Given the description of an element on the screen output the (x, y) to click on. 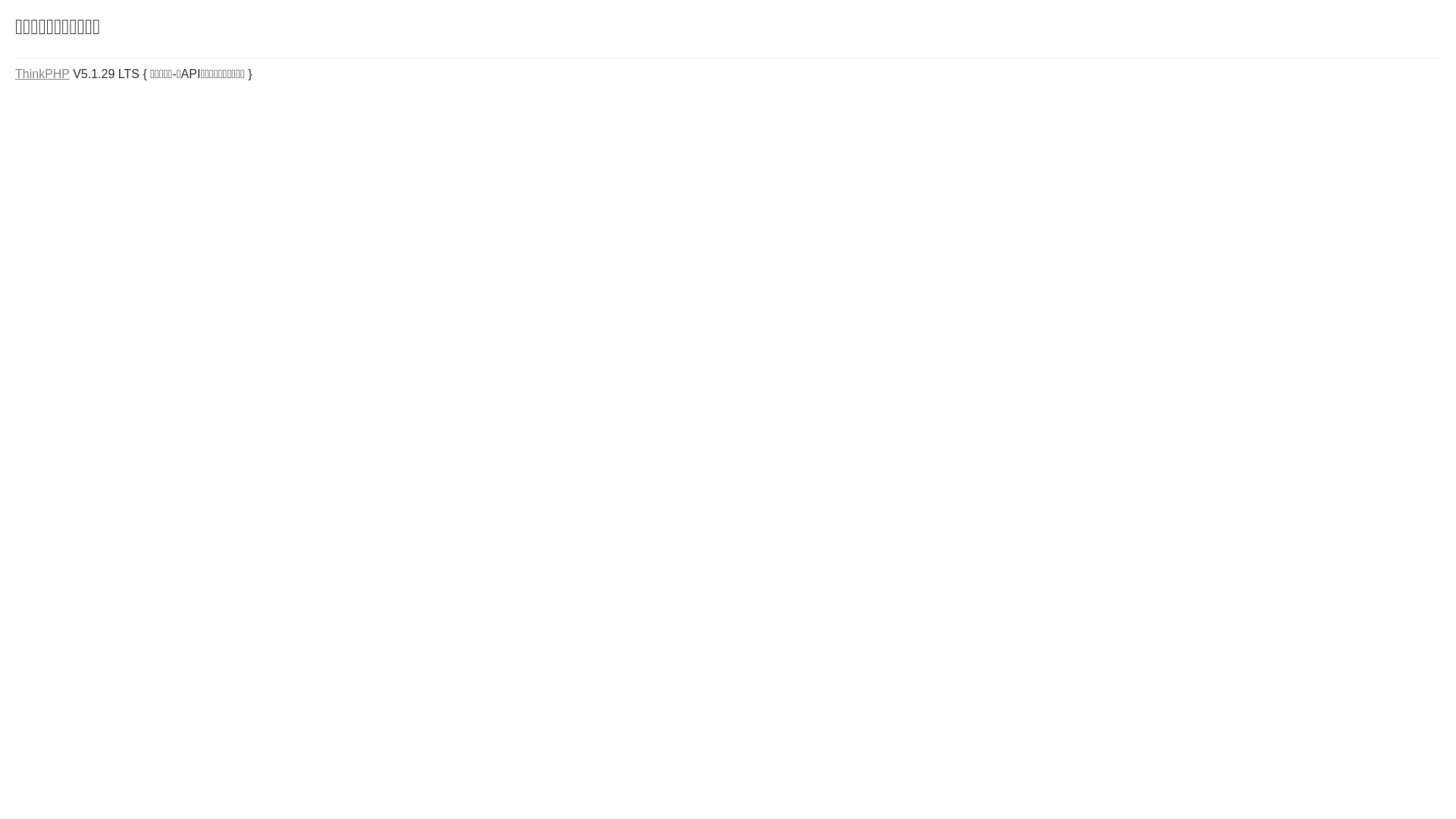
ThinkPHP Element type: text (42, 73)
